Given the description of an element on the screen output the (x, y) to click on. 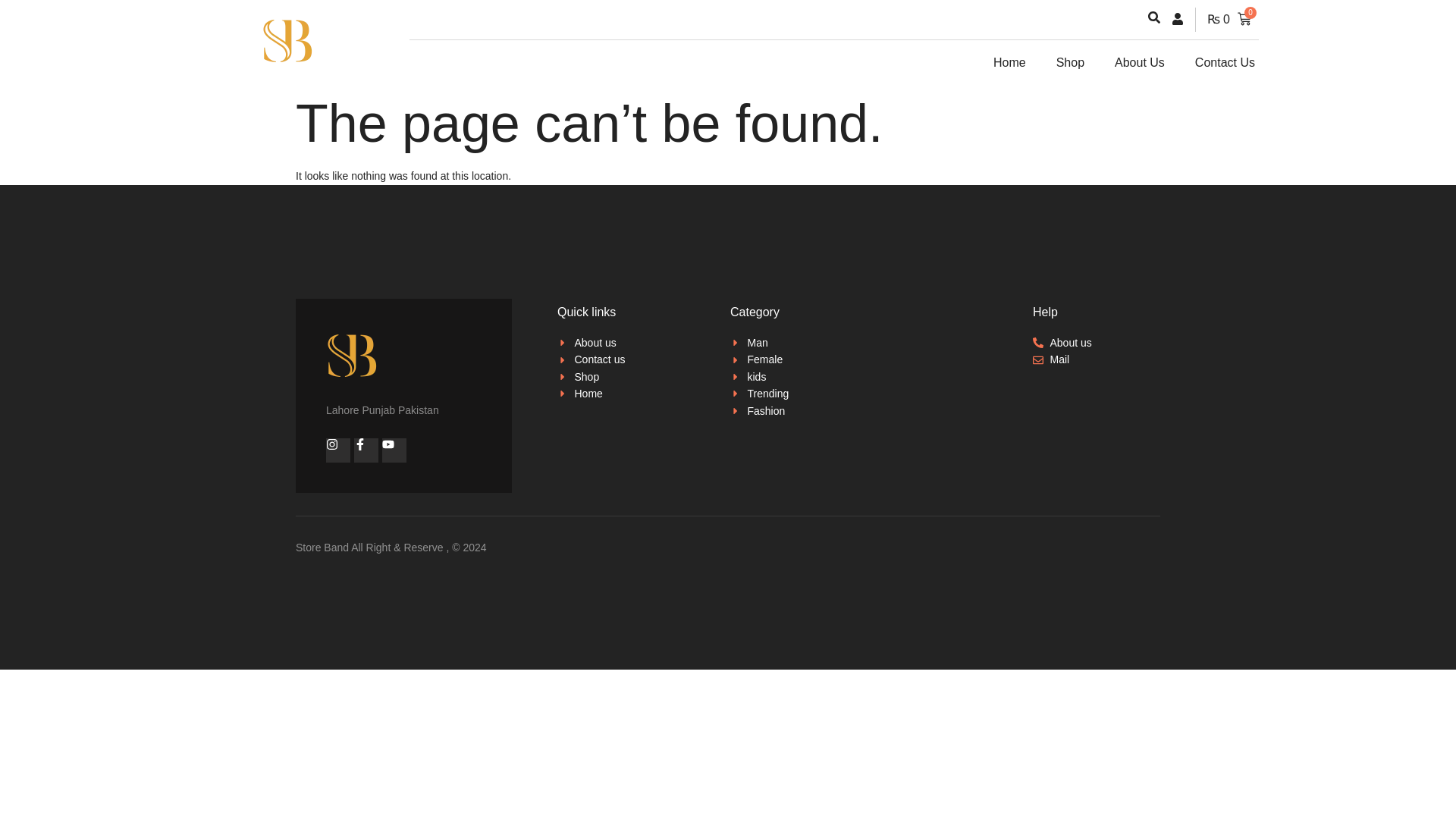
Mail (1062, 359)
Home (590, 393)
Fashion (759, 410)
Trending (759, 393)
About Us (1139, 62)
Contact us (590, 359)
Female (759, 359)
Man (759, 342)
kids (759, 376)
About us (590, 342)
